Given the description of an element on the screen output the (x, y) to click on. 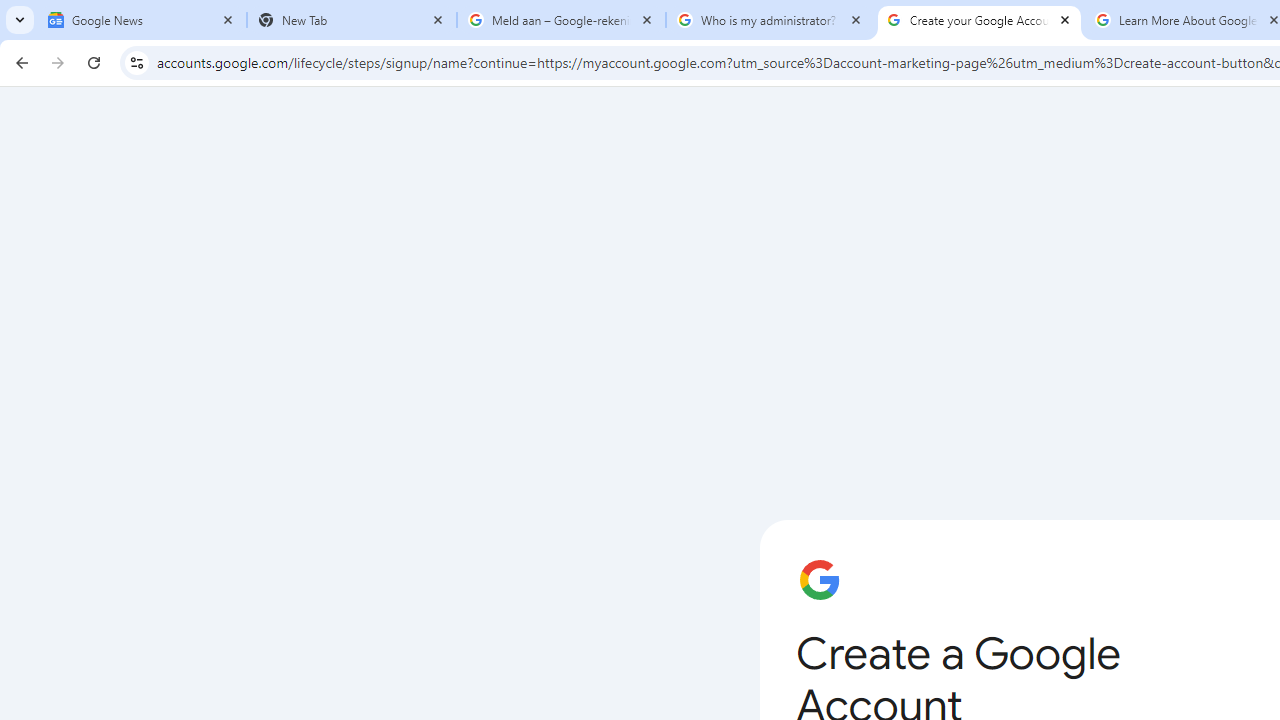
Who is my administrator? - Google Account Help (770, 20)
Create your Google Account (979, 20)
Google News (142, 20)
New Tab (351, 20)
